Given the description of an element on the screen output the (x, y) to click on. 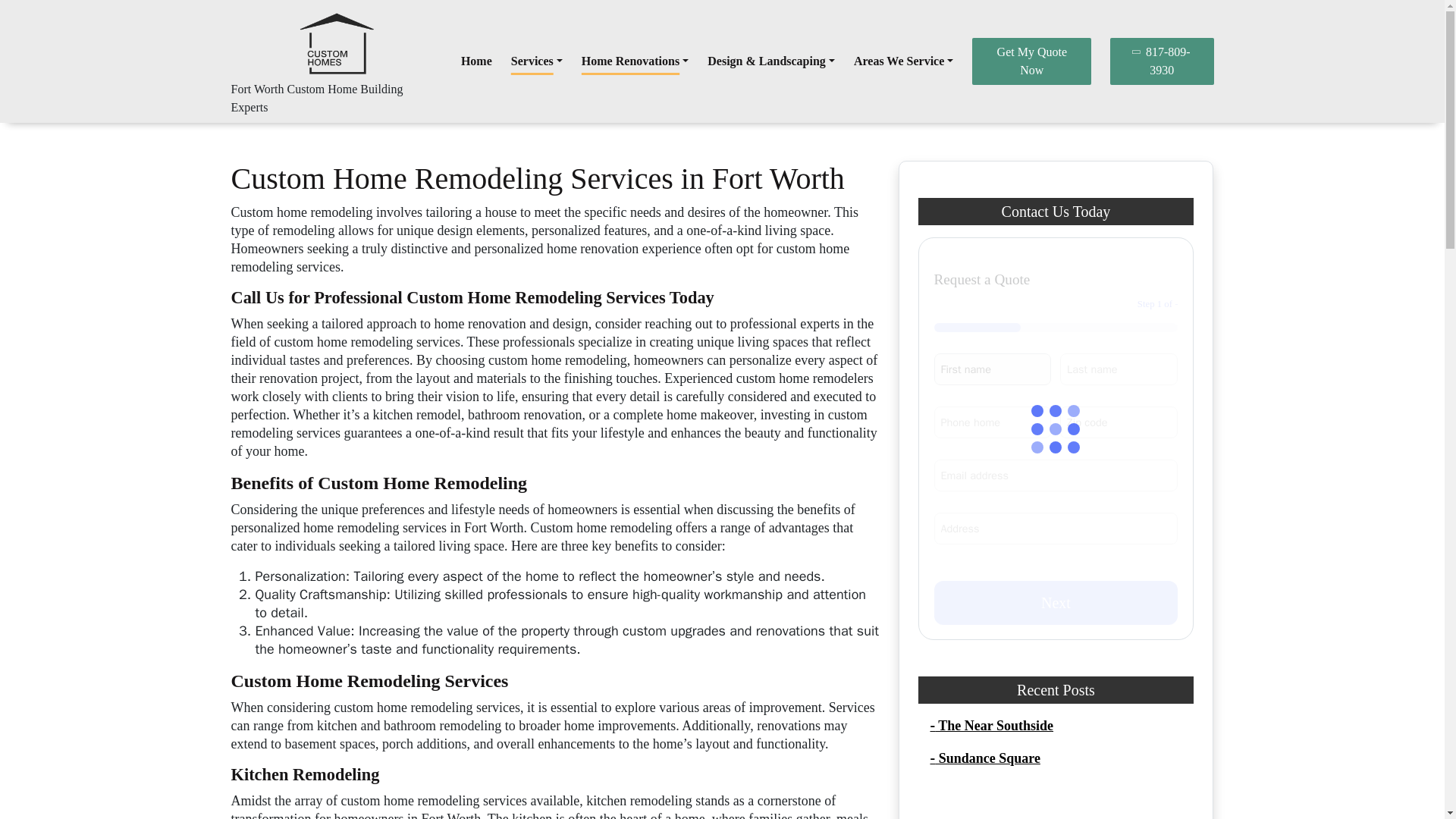
817-809-3930 (1160, 61)
Areas We Service (903, 60)
Home Renovations (634, 60)
Home (476, 60)
Fort Worth Custom Home Building Experts (316, 97)
Home Renovations (634, 60)
Next (1055, 602)
Home (476, 60)
Services (536, 60)
Services (536, 60)
